Given the description of an element on the screen output the (x, y) to click on. 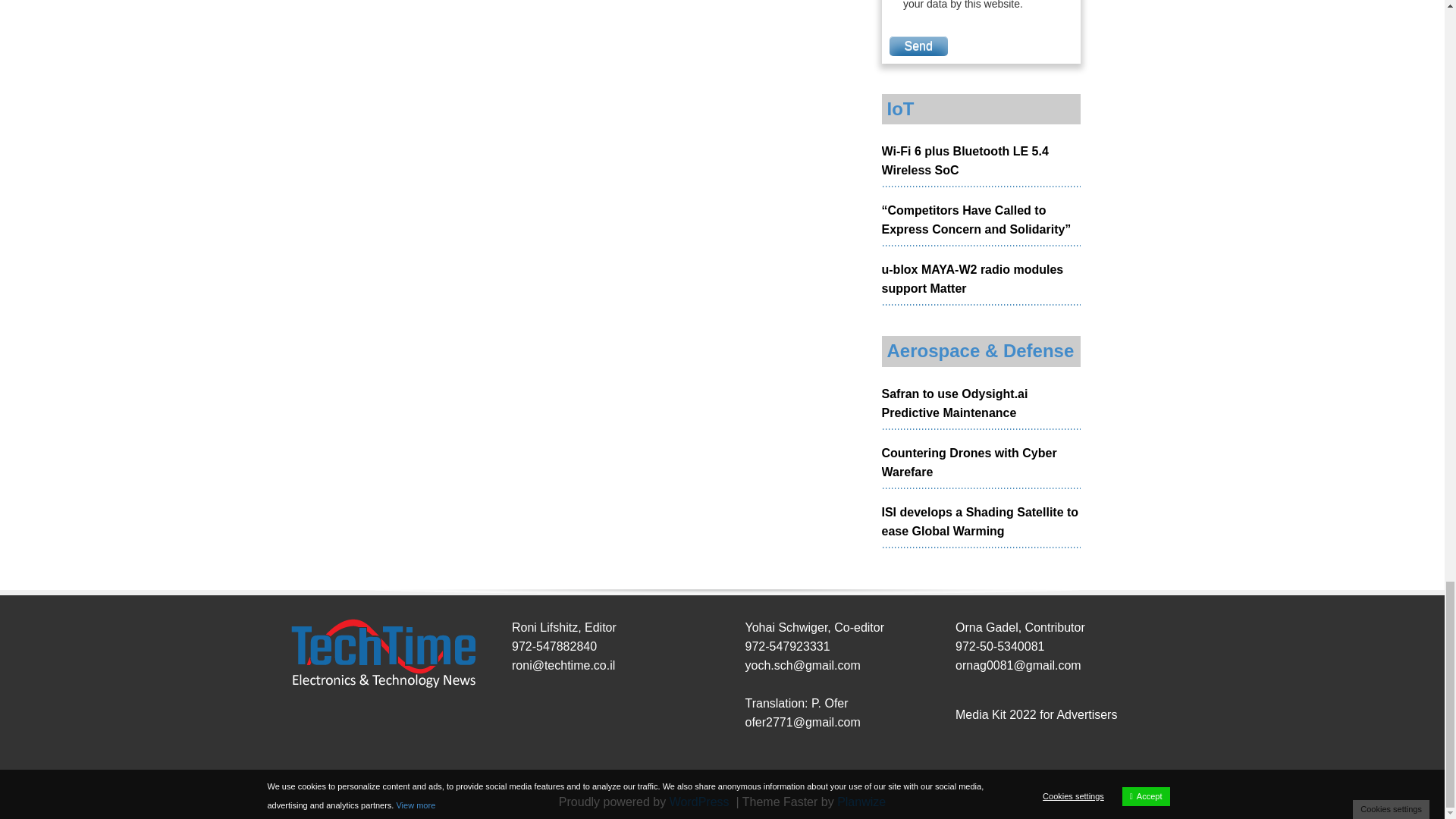
Techtime Logo (382, 654)
SuperPlugin (861, 801)
Wordpress (700, 801)
Send (917, 46)
